Given the description of an element on the screen output the (x, y) to click on. 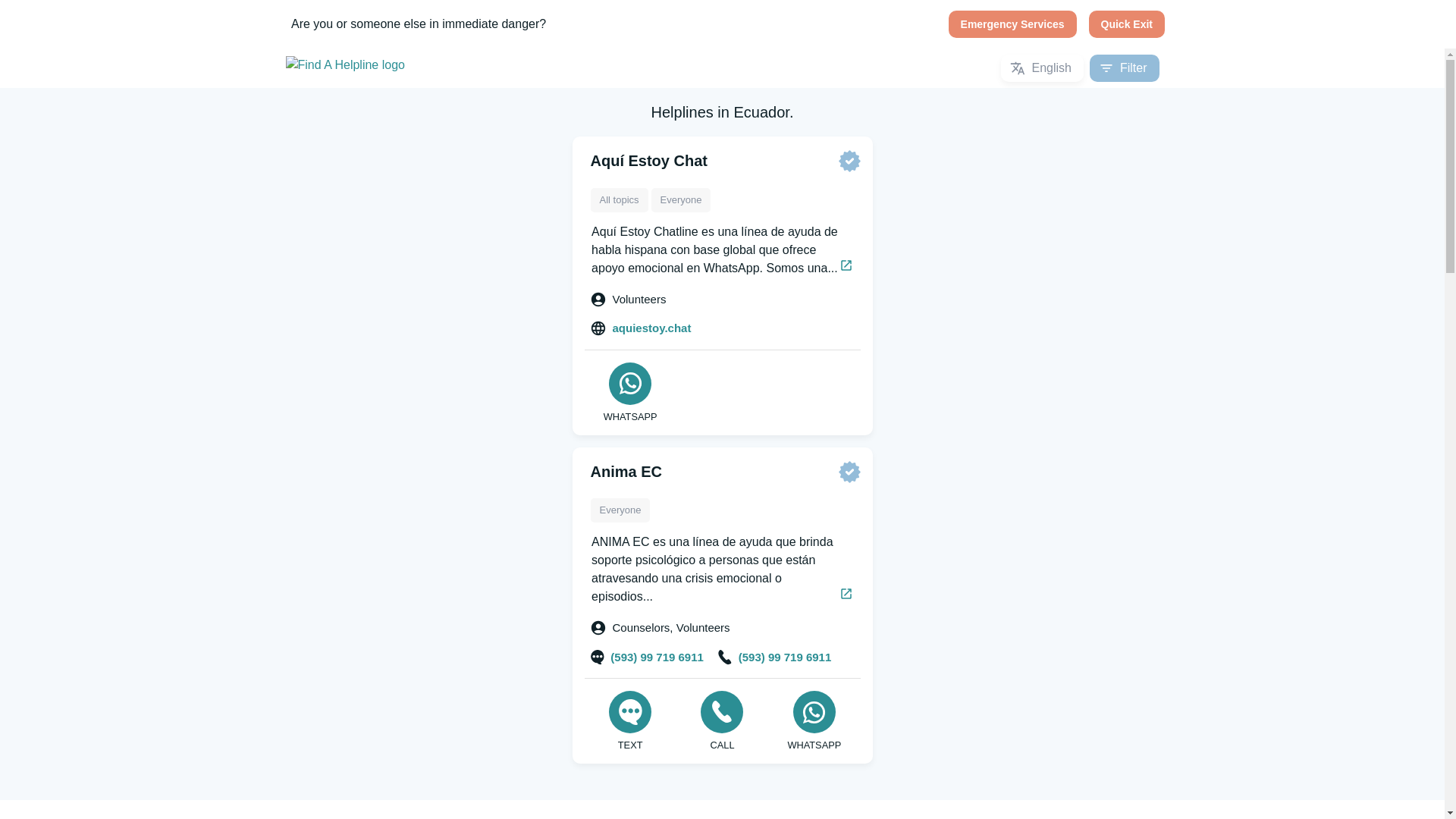
Filter (1123, 67)
English (1042, 67)
aquiestoy.chat (640, 328)
Emergency Services (1013, 24)
Counselors, Volunteers (660, 627)
Volunteers (628, 299)
Anima EC (625, 470)
Quick Exit (1126, 24)
